Given the description of an element on the screen output the (x, y) to click on. 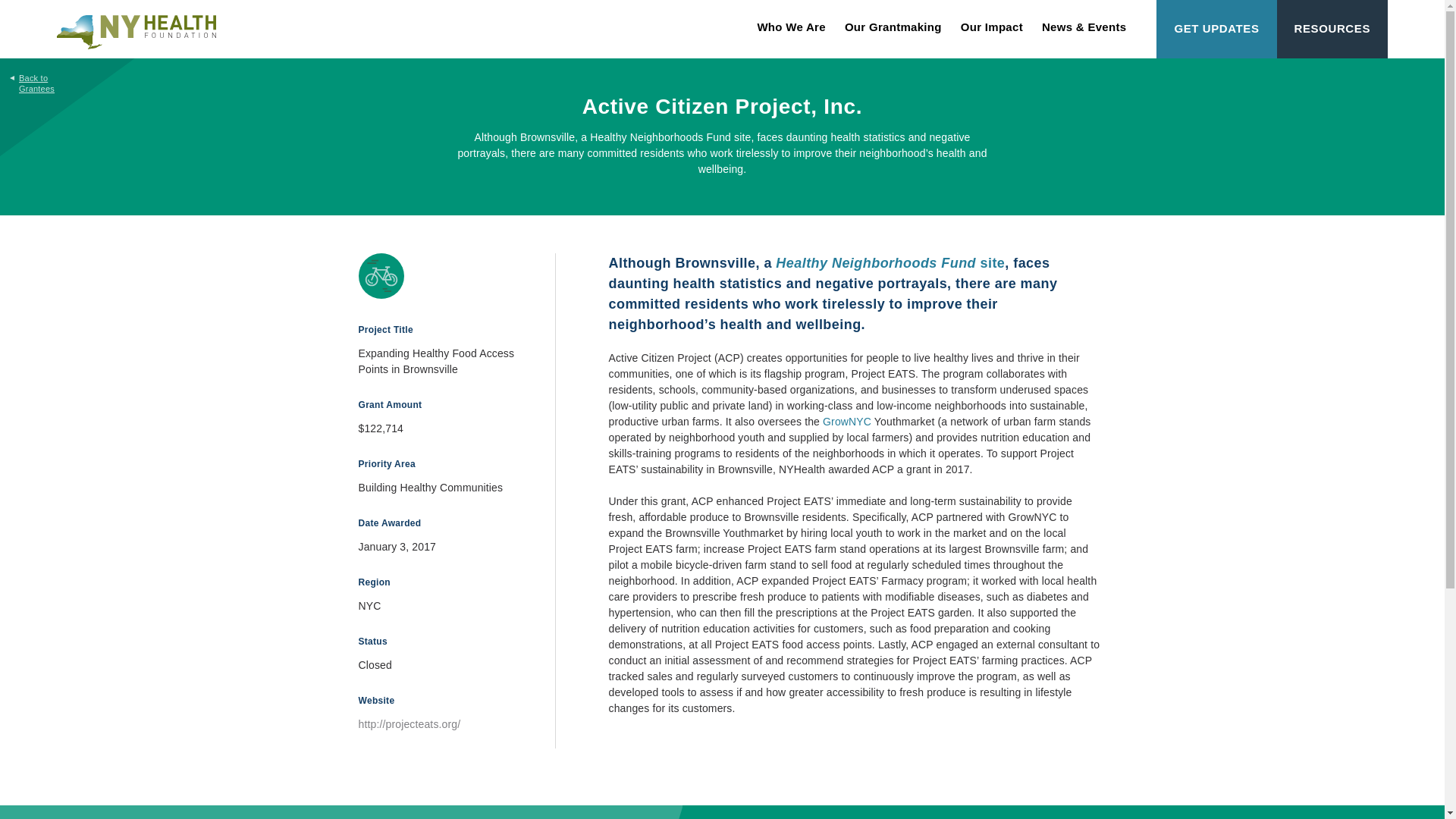
RESOURCES (1331, 29)
GrowNYC (846, 421)
GET UPDATES (1216, 29)
Healthy Neighborhoods Fund site (890, 263)
Back to Grantees (28, 75)
